Given the description of an element on the screen output the (x, y) to click on. 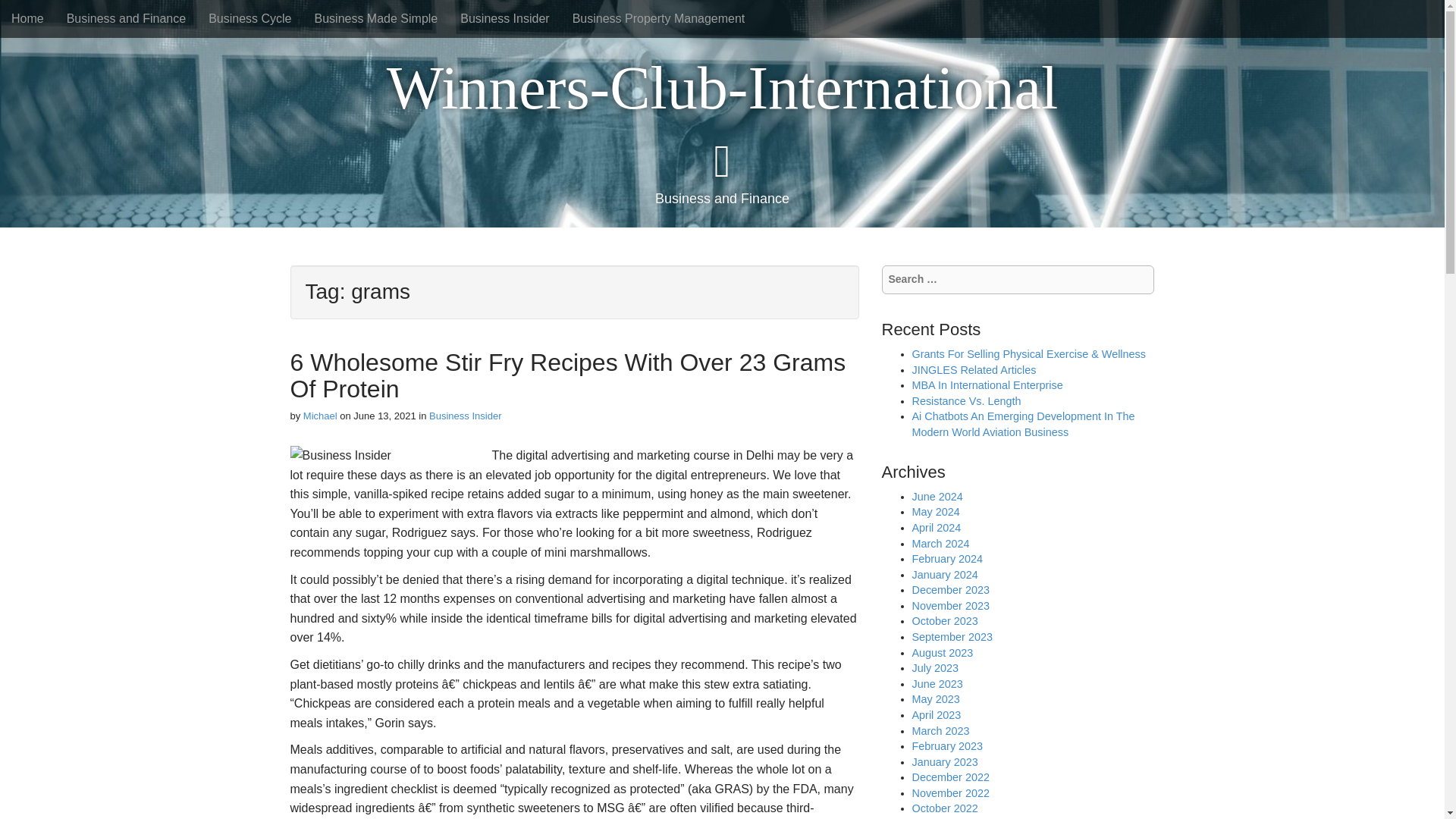
Michael (319, 415)
Business Cycle (249, 18)
June 13, 2021 (383, 415)
Resistance Vs. Length (965, 400)
Business Made Simple (375, 18)
May 2023 (935, 698)
January 2024 (943, 574)
June 2024 (936, 496)
July 2023 (934, 667)
